Given the description of an element on the screen output the (x, y) to click on. 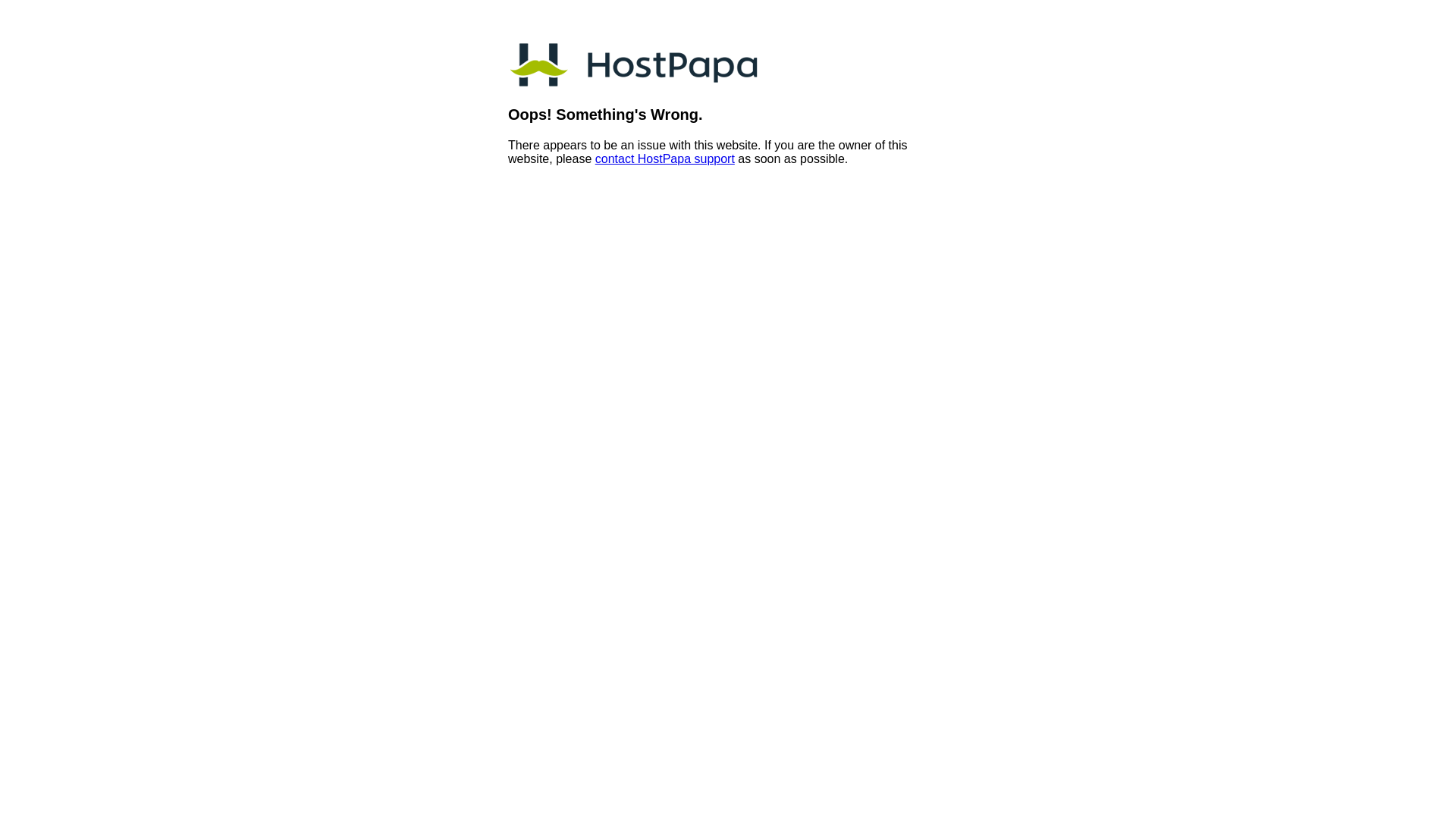
contact HostPapa support Element type: text (664, 158)
